Given the description of an element on the screen output the (x, y) to click on. 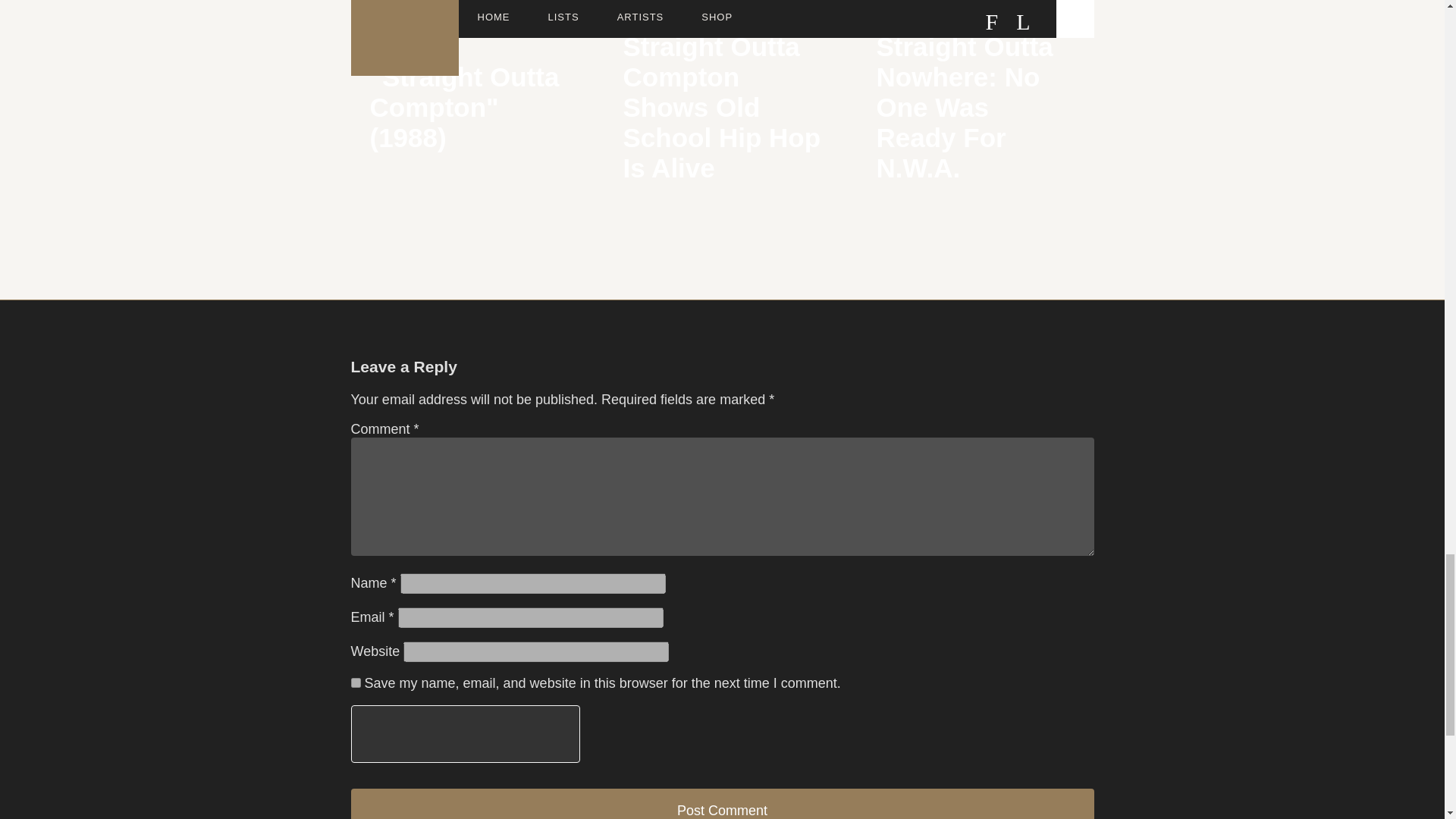
Post Comment (721, 803)
yes (975, 125)
Post Comment (354, 682)
